Given the description of an element on the screen output the (x, y) to click on. 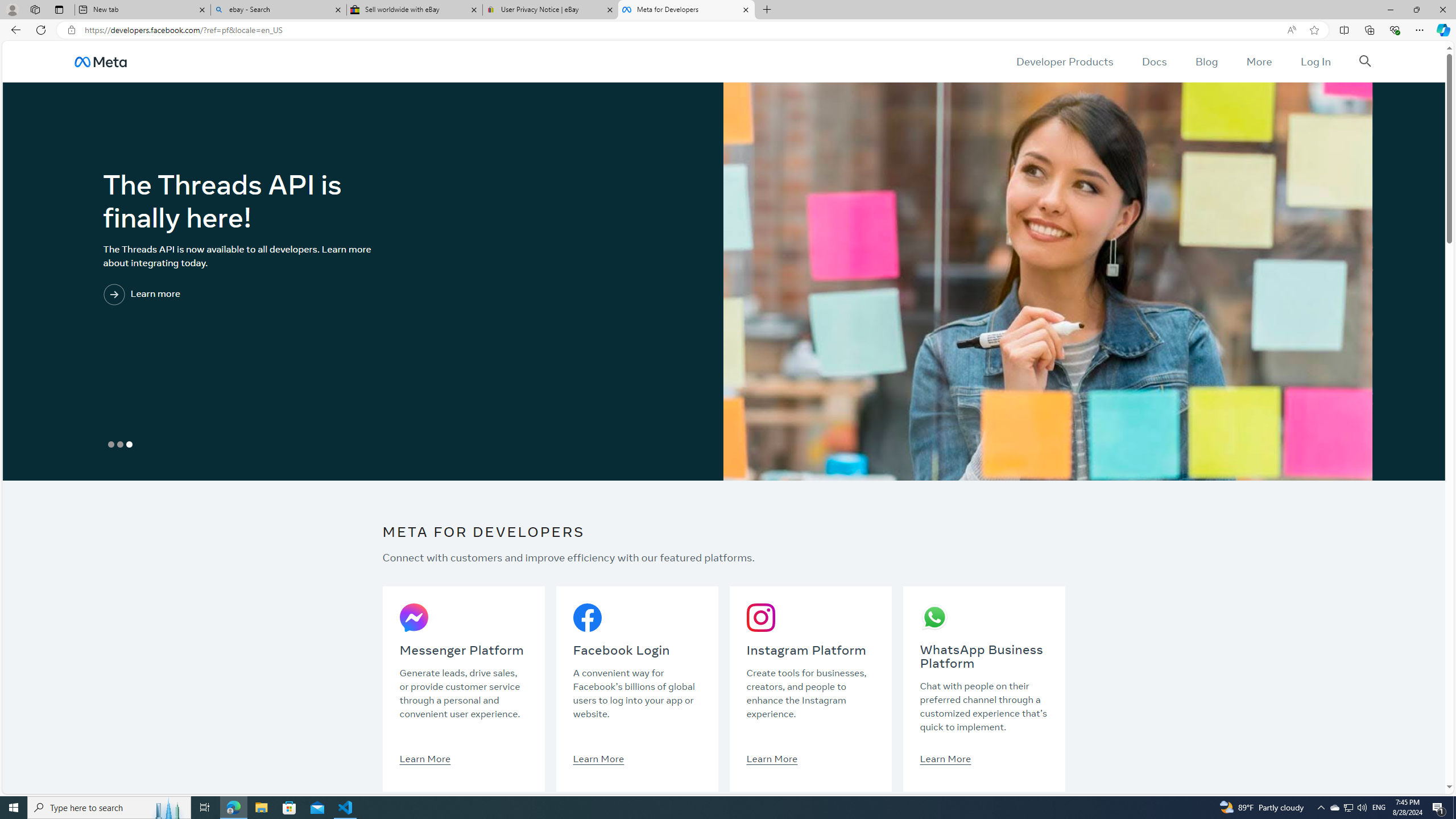
Docs (1153, 61)
Show Slide 3 (128, 444)
Blog (1205, 61)
Docs (1153, 61)
More (1259, 61)
Log In (1315, 61)
User Privacy Notice | eBay (550, 9)
